Given the description of an element on the screen output the (x, y) to click on. 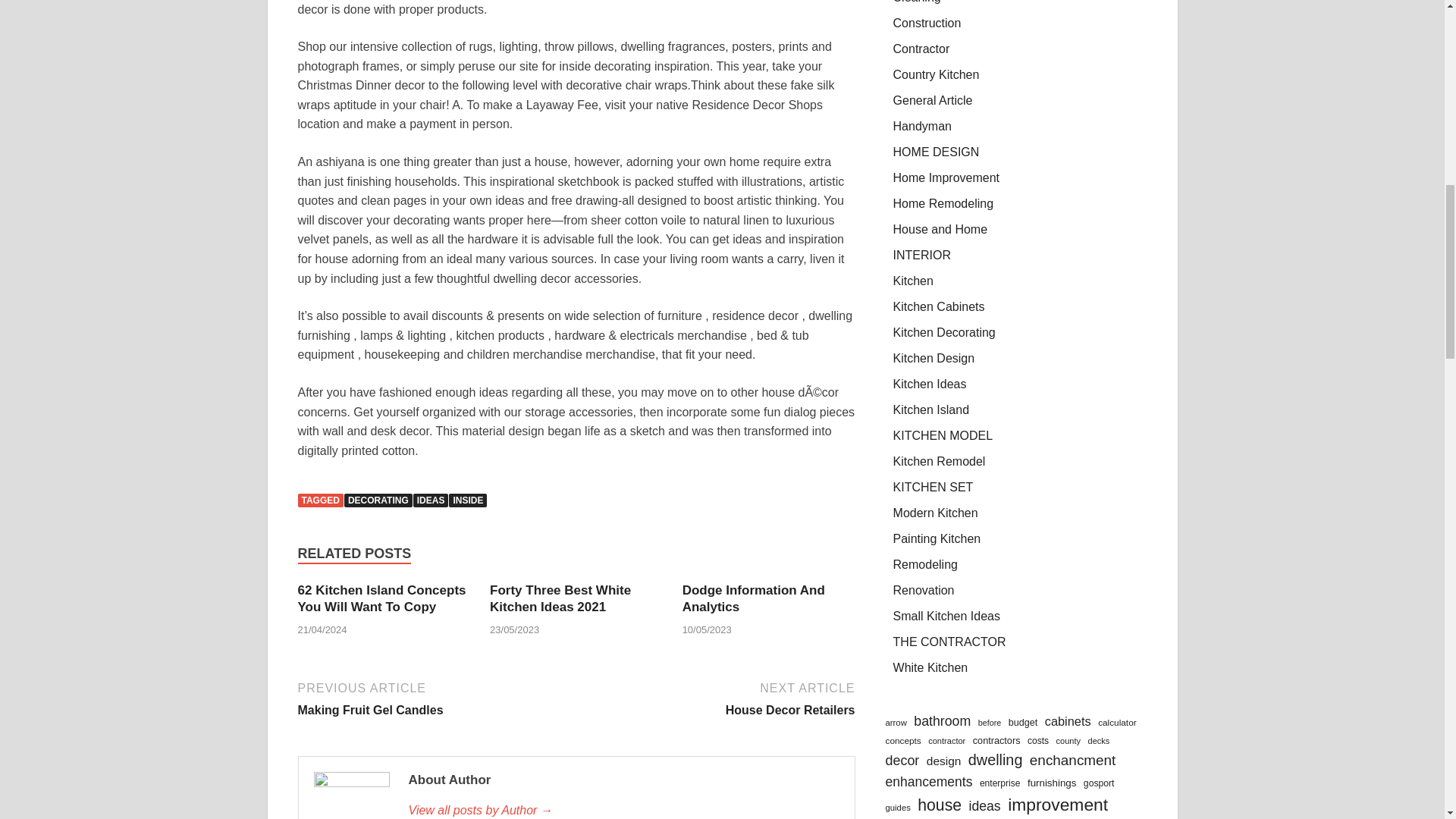
62 Kitchen Island Concepts You Will Want To Copy (381, 598)
Author (622, 810)
Dodge Information And Analytics (753, 598)
Forty Three Best White Kitchen Ideas 2021 (559, 598)
